Given the description of an element on the screen output the (x, y) to click on. 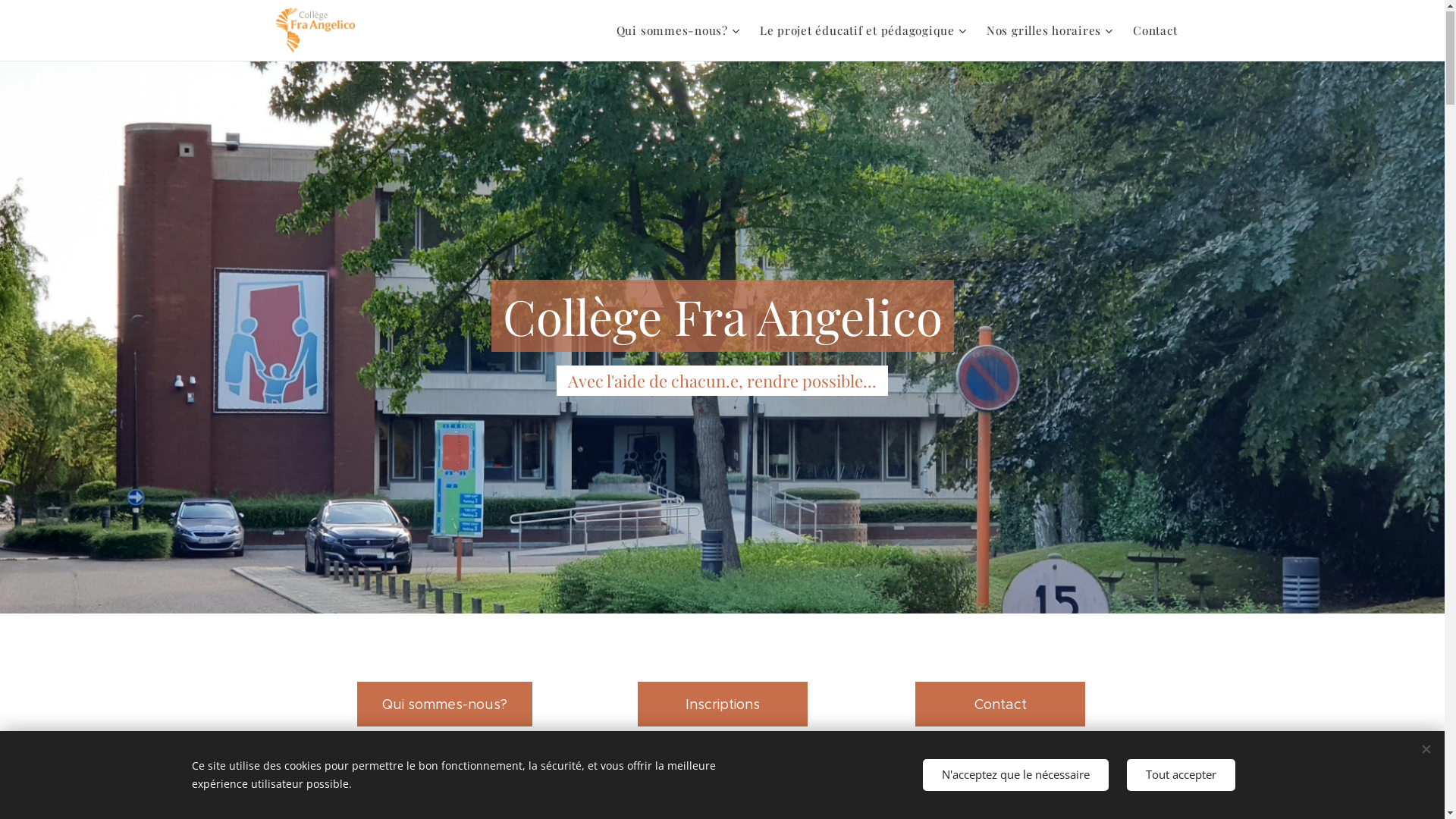
Contact Element type: text (1148, 31)
Qui sommes-nous? Element type: text (443, 704)
Tout accepter Element type: text (1180, 774)
Inscriptions Element type: text (721, 704)
Contact Element type: text (1000, 704)
Nos grilles horaires Element type: text (1047, 31)
Qui sommes-nous? Element type: text (679, 31)
